Given the description of an element on the screen output the (x, y) to click on. 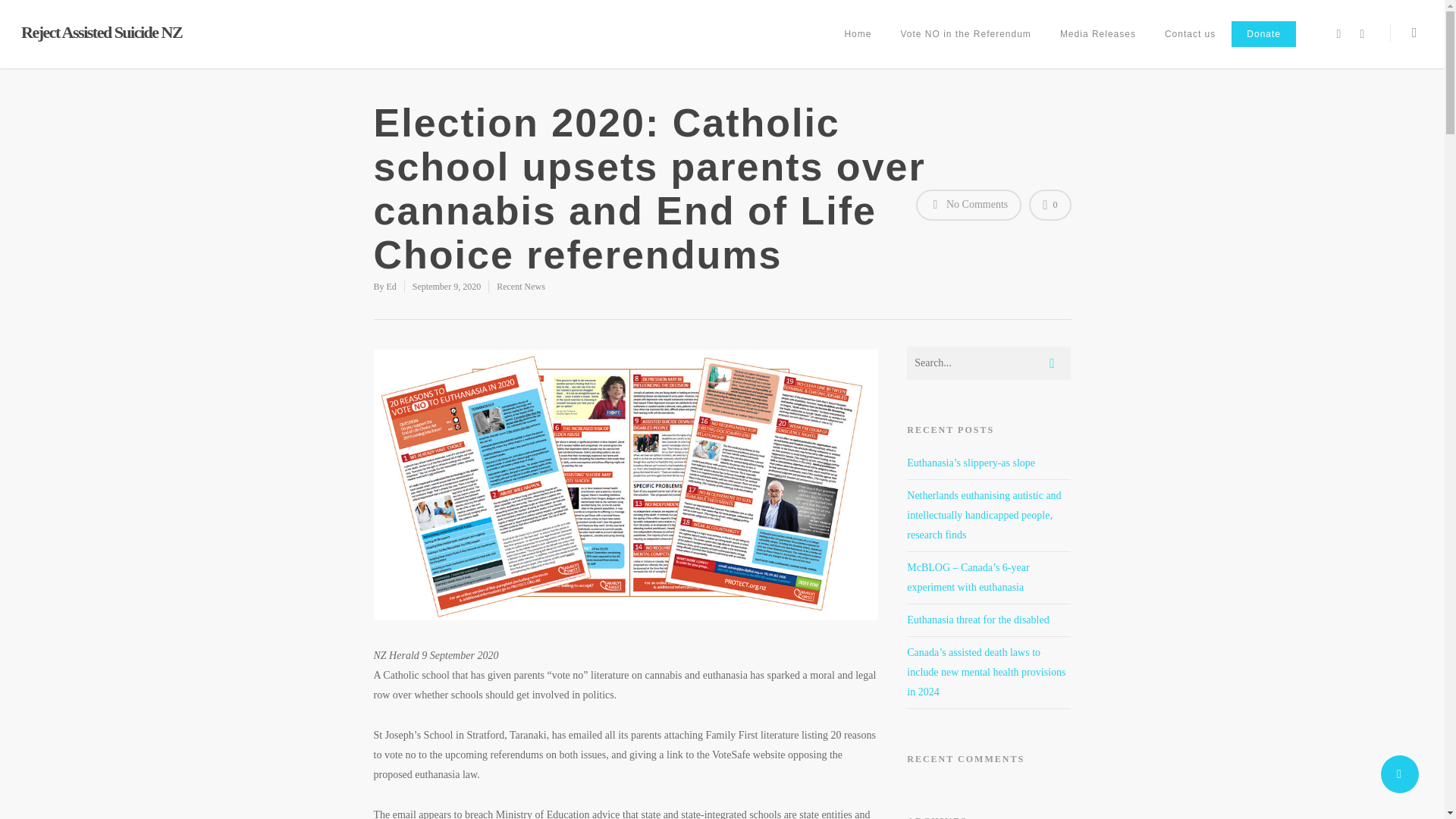
Media Releases (1104, 44)
Search for: (988, 363)
Contact us (1190, 44)
0 (1049, 204)
Vote NO in the Referendum (970, 44)
Euthanasia threat for the disabled (977, 619)
Love this (1049, 204)
Recent News (520, 286)
No Comments (968, 204)
